Given the description of an element on the screen output the (x, y) to click on. 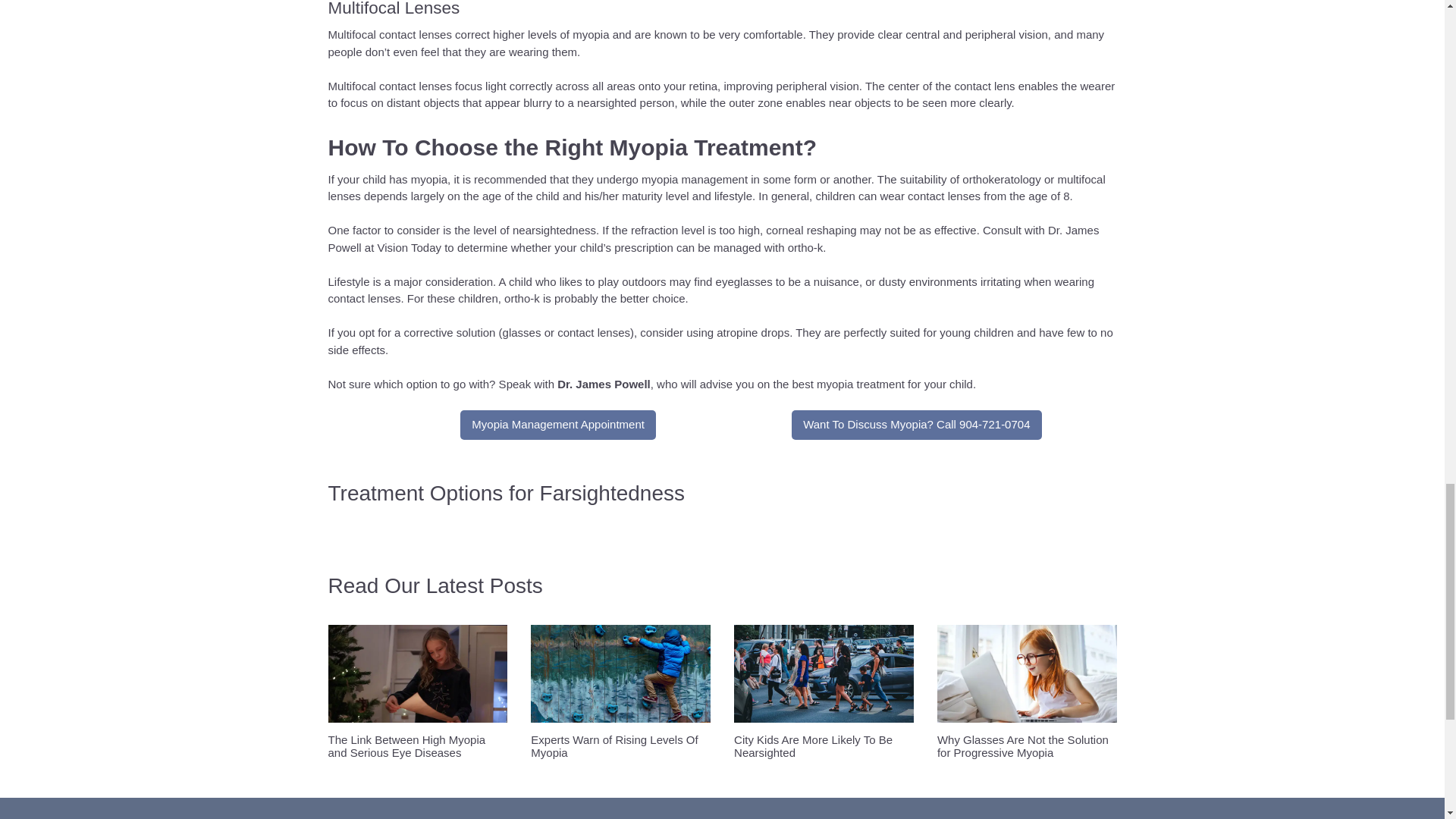
Myopia Management Appointment (558, 424)
